Given the description of an element on the screen output the (x, y) to click on. 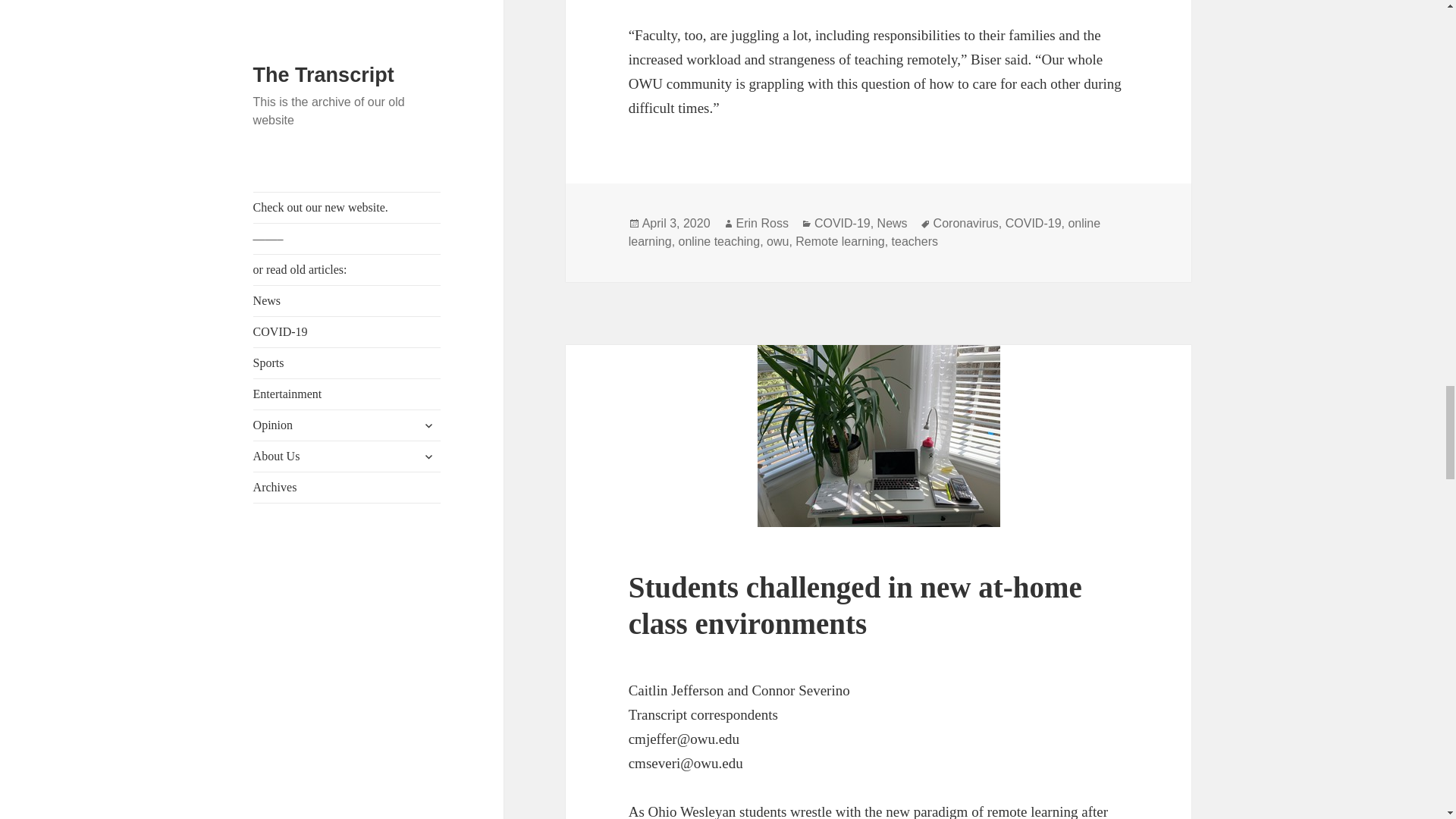
Coronavirus (965, 223)
online learning (864, 232)
COVID-19 (1033, 223)
Erin Ross (762, 223)
owu (778, 241)
online teaching (719, 241)
teachers (914, 241)
April 3, 2020 (676, 223)
News (892, 223)
Remote learning (838, 241)
COVID-19 (841, 223)
Students challenged in new at-home class environments (854, 604)
